Given the description of an element on the screen output the (x, y) to click on. 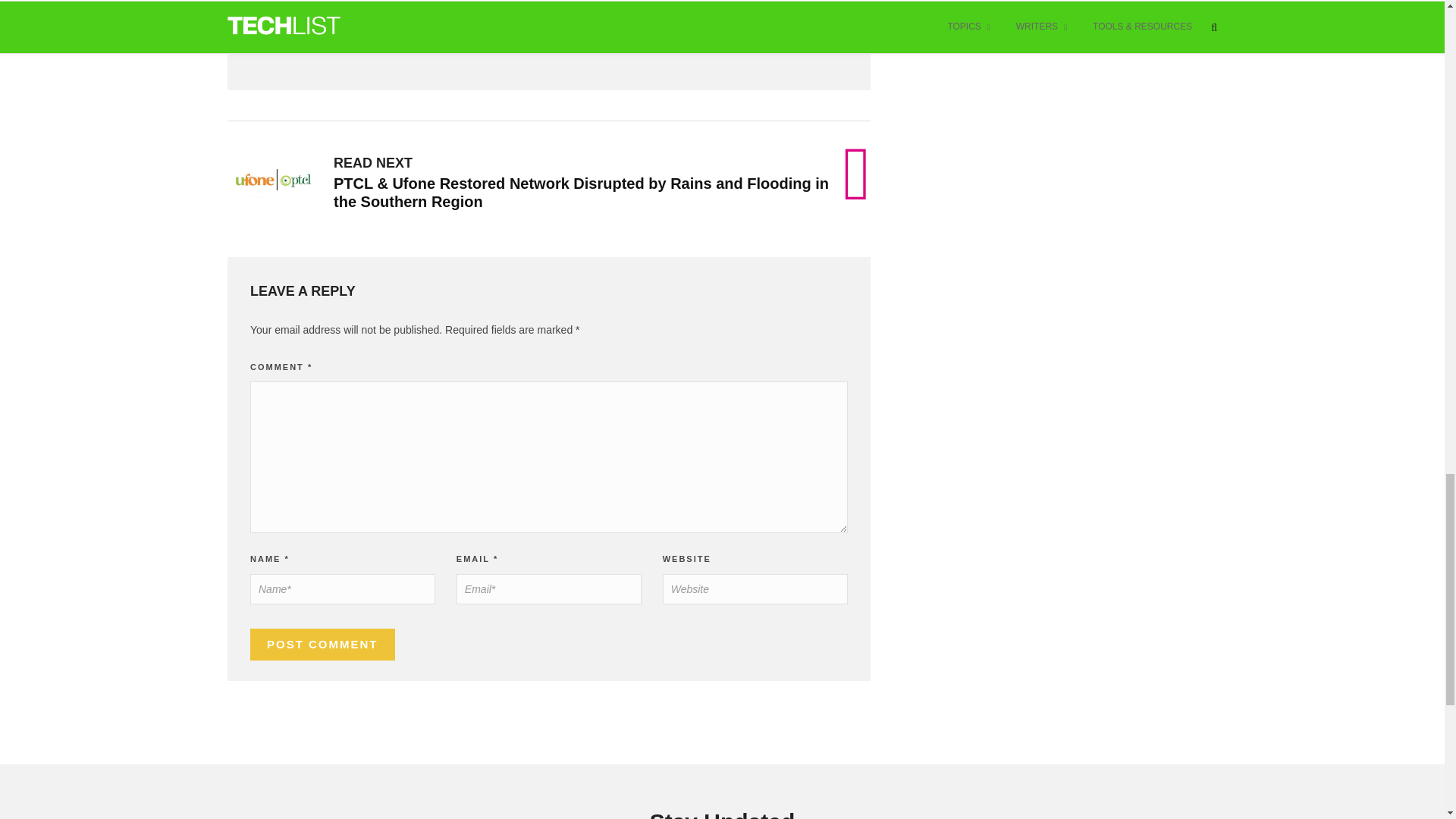
Post Comment (322, 644)
